Given the description of an element on the screen output the (x, y) to click on. 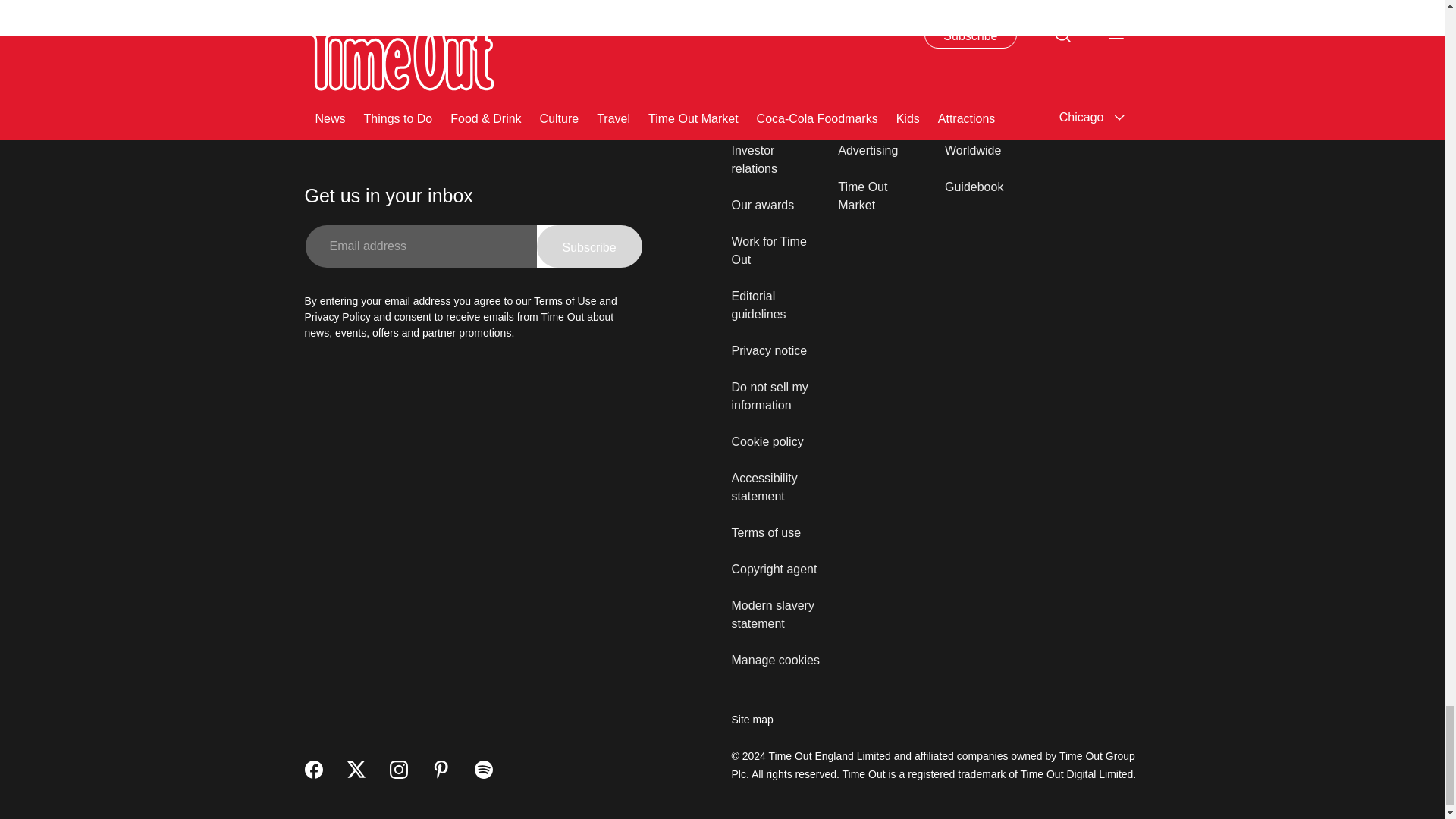
Subscribe (589, 246)
